Given the description of an element on the screen output the (x, y) to click on. 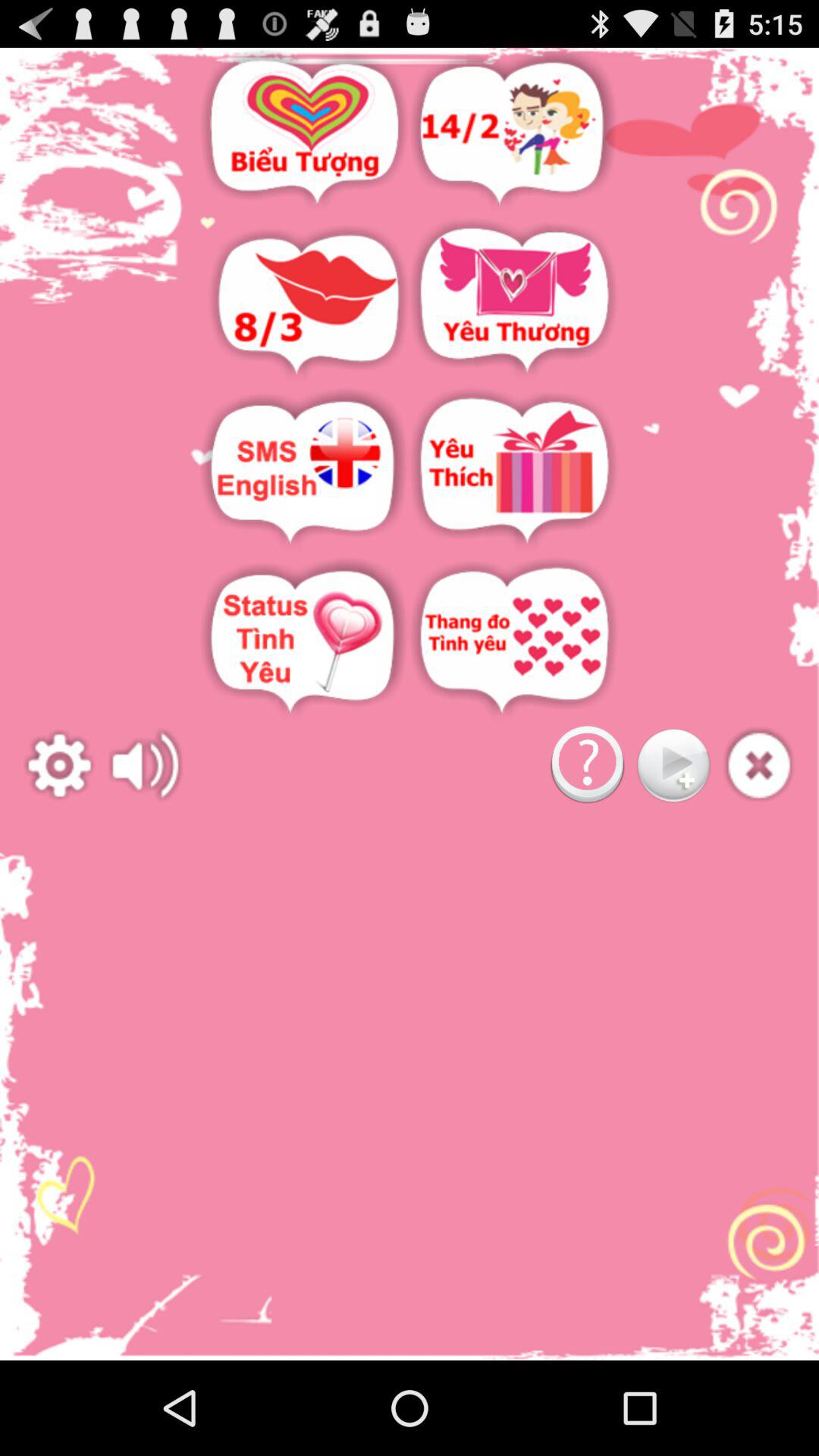
close the audio (759, 765)
